Given the description of an element on the screen output the (x, y) to click on. 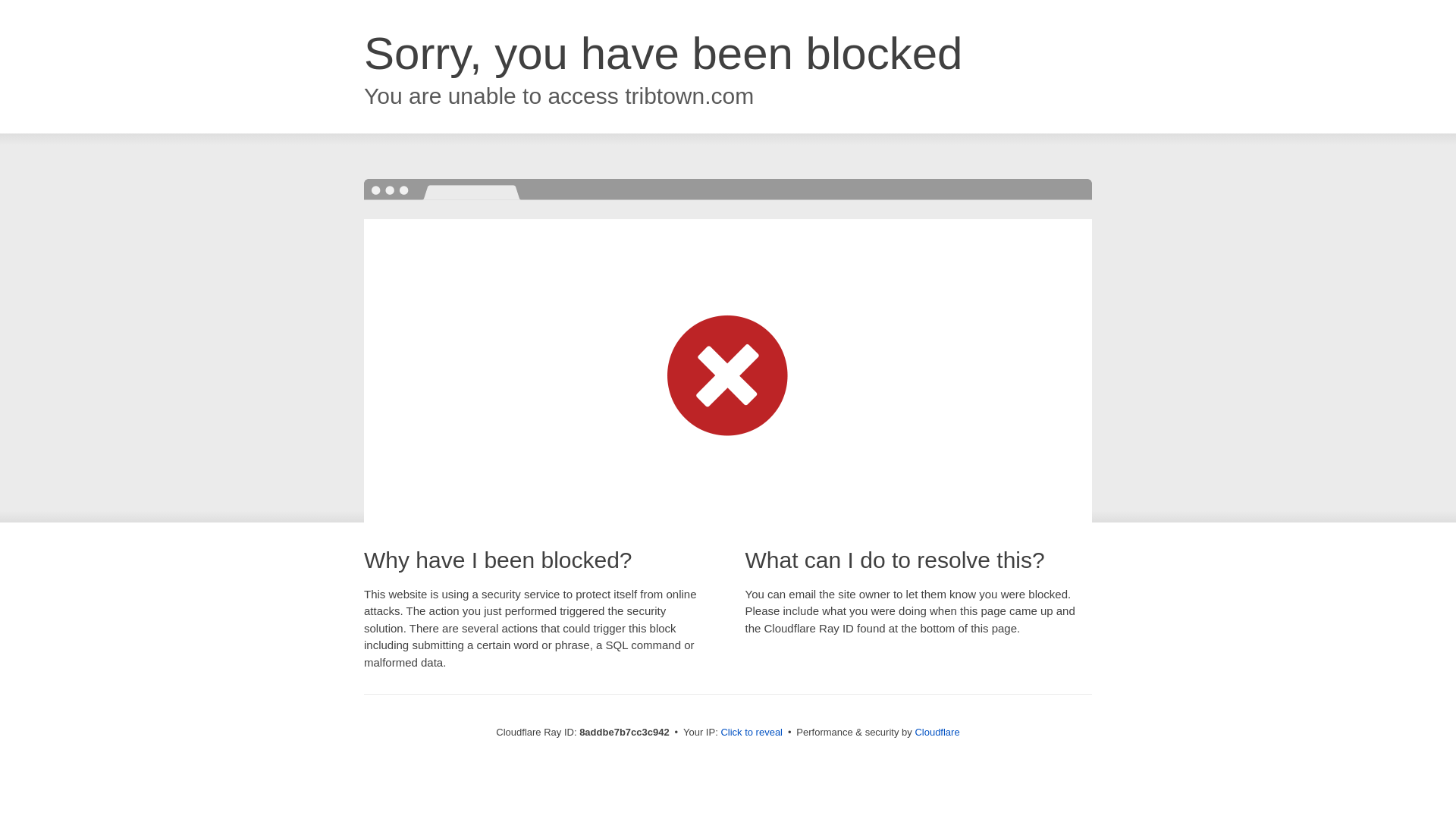
Click to reveal (751, 732)
Cloudflare (936, 731)
